Given the description of an element on the screen output the (x, y) to click on. 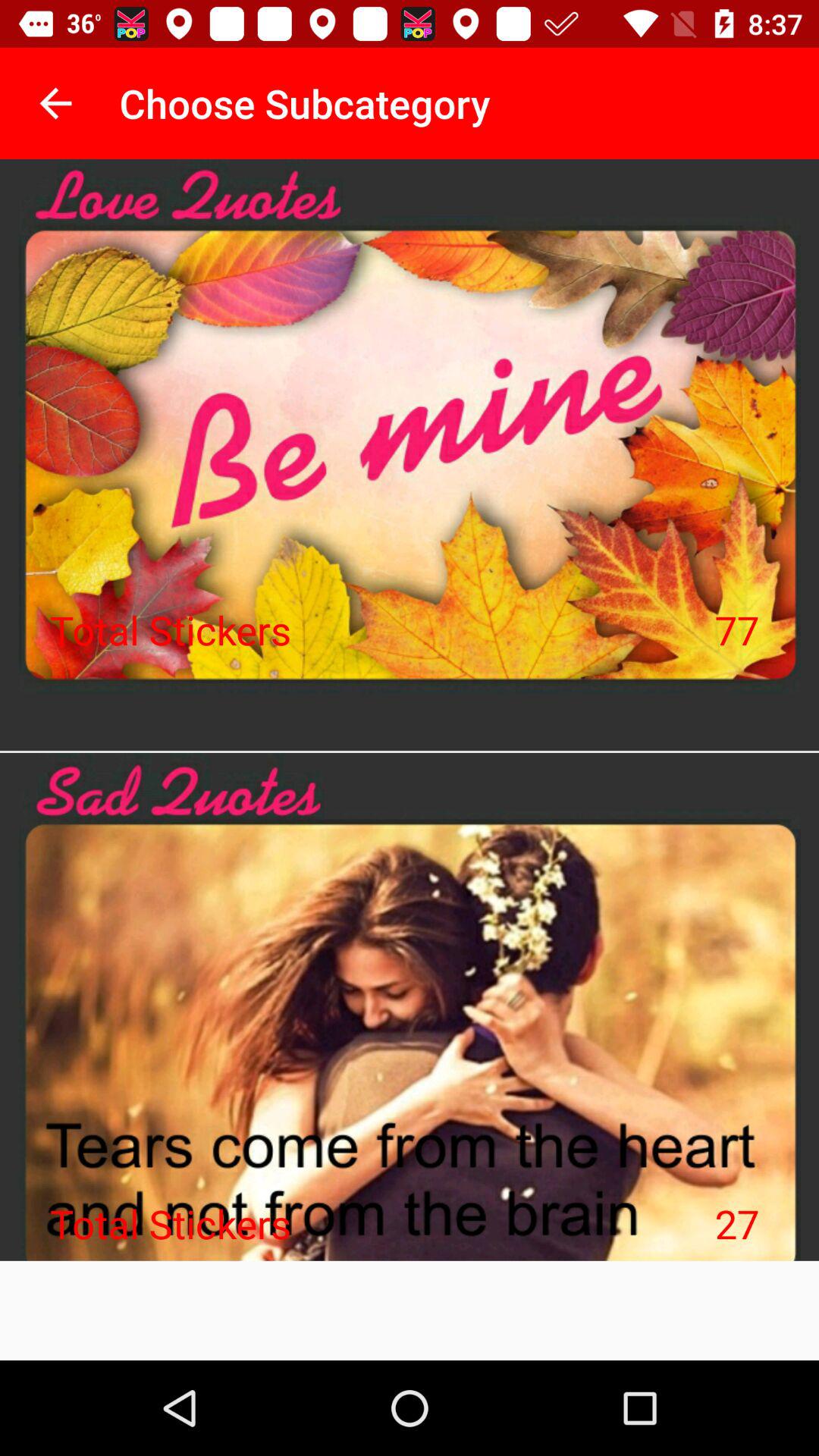
tap 27 at the bottom right corner (736, 1223)
